Given the description of an element on the screen output the (x, y) to click on. 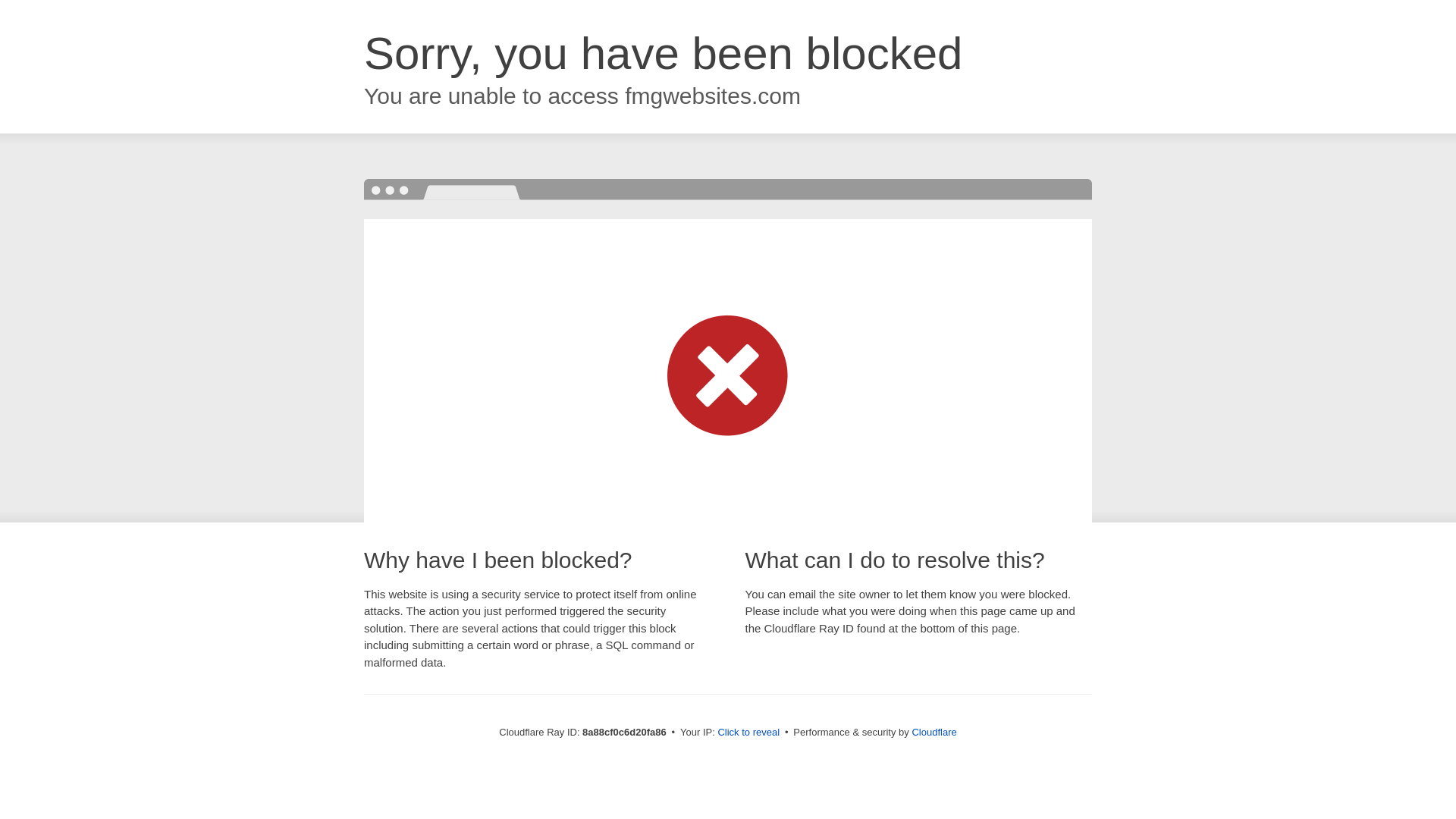
Click to reveal (747, 732)
Cloudflare (933, 731)
